Given the description of an element on the screen output the (x, y) to click on. 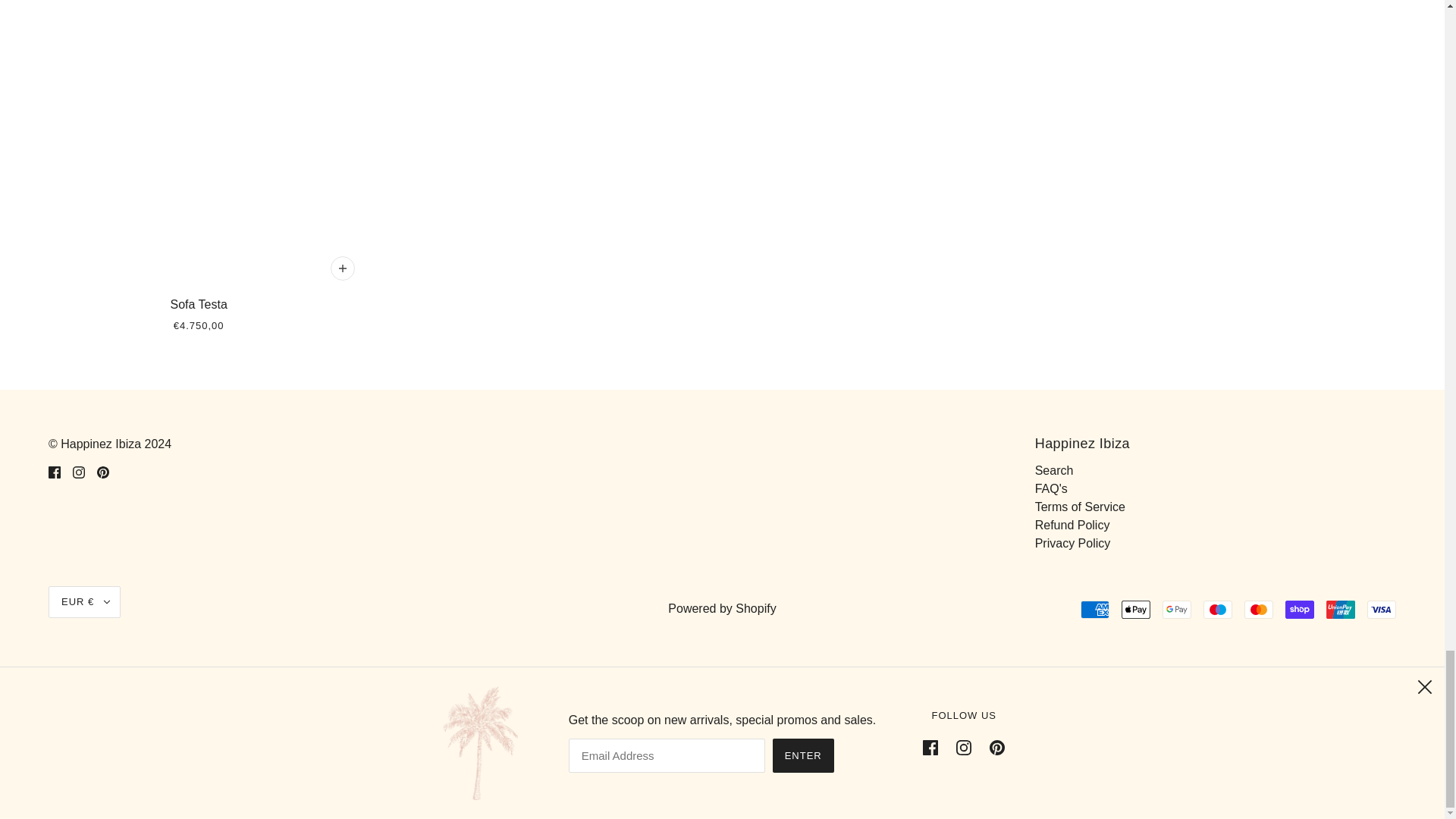
Terms of Service (1080, 506)
Google Pay (1176, 609)
FAQ's (1051, 488)
American Express (1094, 609)
Refund Policy (1072, 524)
Mastercard (1258, 609)
Privacy Policy (1072, 543)
Apple Pay (1135, 609)
Maestro (1217, 609)
Shop Pay (1299, 609)
Search (1054, 470)
